Given the description of an element on the screen output the (x, y) to click on. 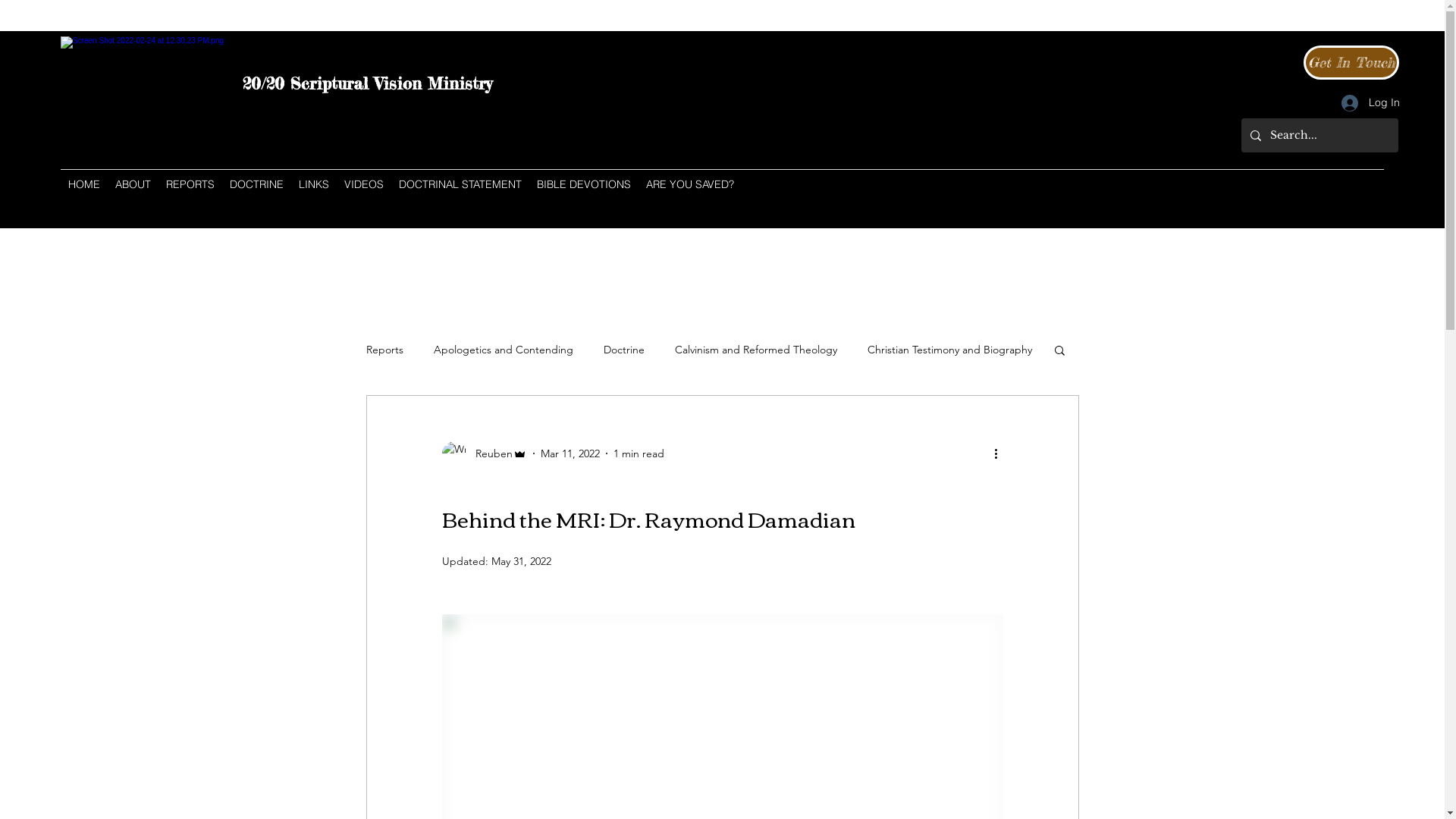
HOME Element type: text (83, 183)
Christian Testimony and Biography Element type: text (949, 349)
ABOUT Element type: text (132, 183)
20/20 Scriptural Vision Ministry Element type: text (367, 82)
REPORTS Element type: text (190, 183)
Log In Element type: text (1364, 102)
Reports Element type: text (383, 349)
Apologetics and Contending Element type: text (503, 349)
BIBLE DEVOTIONS Element type: text (583, 183)
LINKS Element type: text (313, 183)
DOCTRINE Element type: text (256, 183)
VIDEOS Element type: text (363, 183)
Get In Touch Element type: text (1351, 62)
Doctrine Element type: text (623, 349)
DOCTRINAL STATEMENT Element type: text (460, 183)
Calvinism and Reformed Theology Element type: text (755, 349)
Reuben Element type: text (483, 453)
ARE YOU SAVED? Element type: text (689, 183)
